Given the description of an element on the screen output the (x, y) to click on. 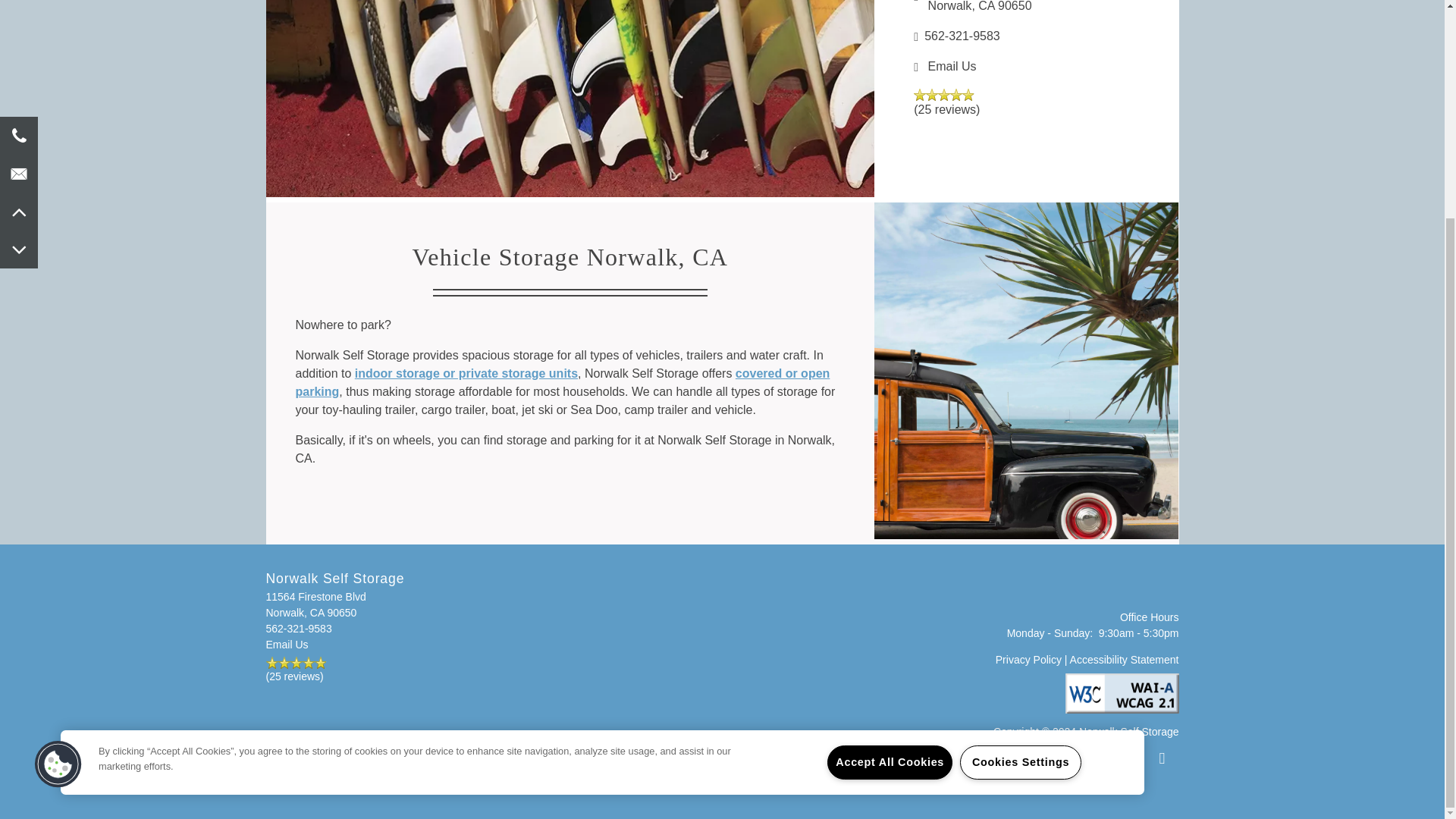
Google My Business (1078, 586)
Property Phone Number (334, 628)
Facebook (1161, 586)
Property Phone Number (1026, 36)
Email Us (952, 65)
562-321-9583 (1026, 36)
562-321-9583 (334, 603)
Cookies Button (334, 628)
indoor storage or private storage units (57, 477)
Yelp (985, 7)
Email Us (466, 373)
covered or open parking (1119, 586)
